Given the description of an element on the screen output the (x, y) to click on. 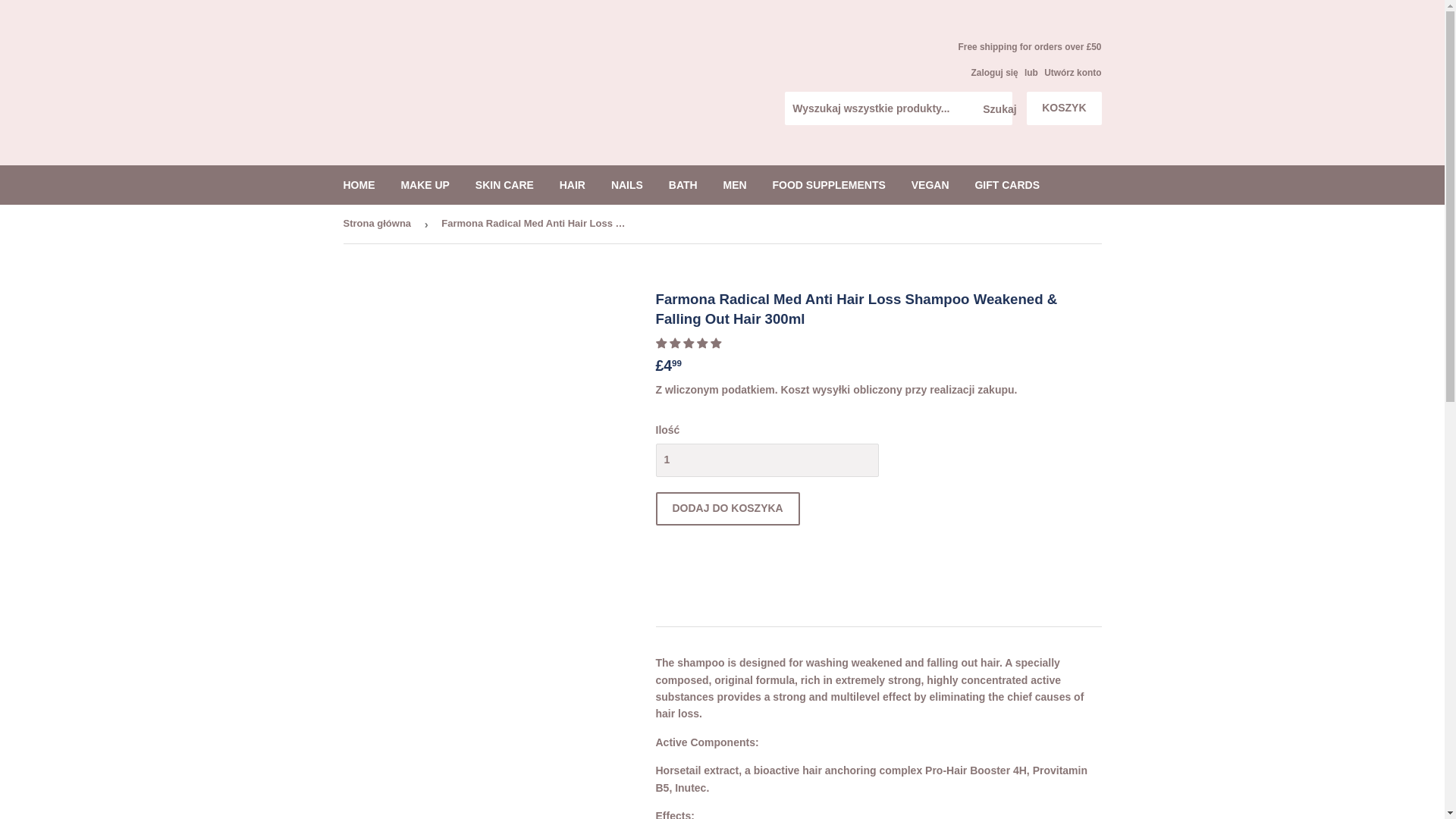
Szukaj (994, 109)
KOSZYK (1063, 108)
1 (766, 459)
